Given the description of an element on the screen output the (x, y) to click on. 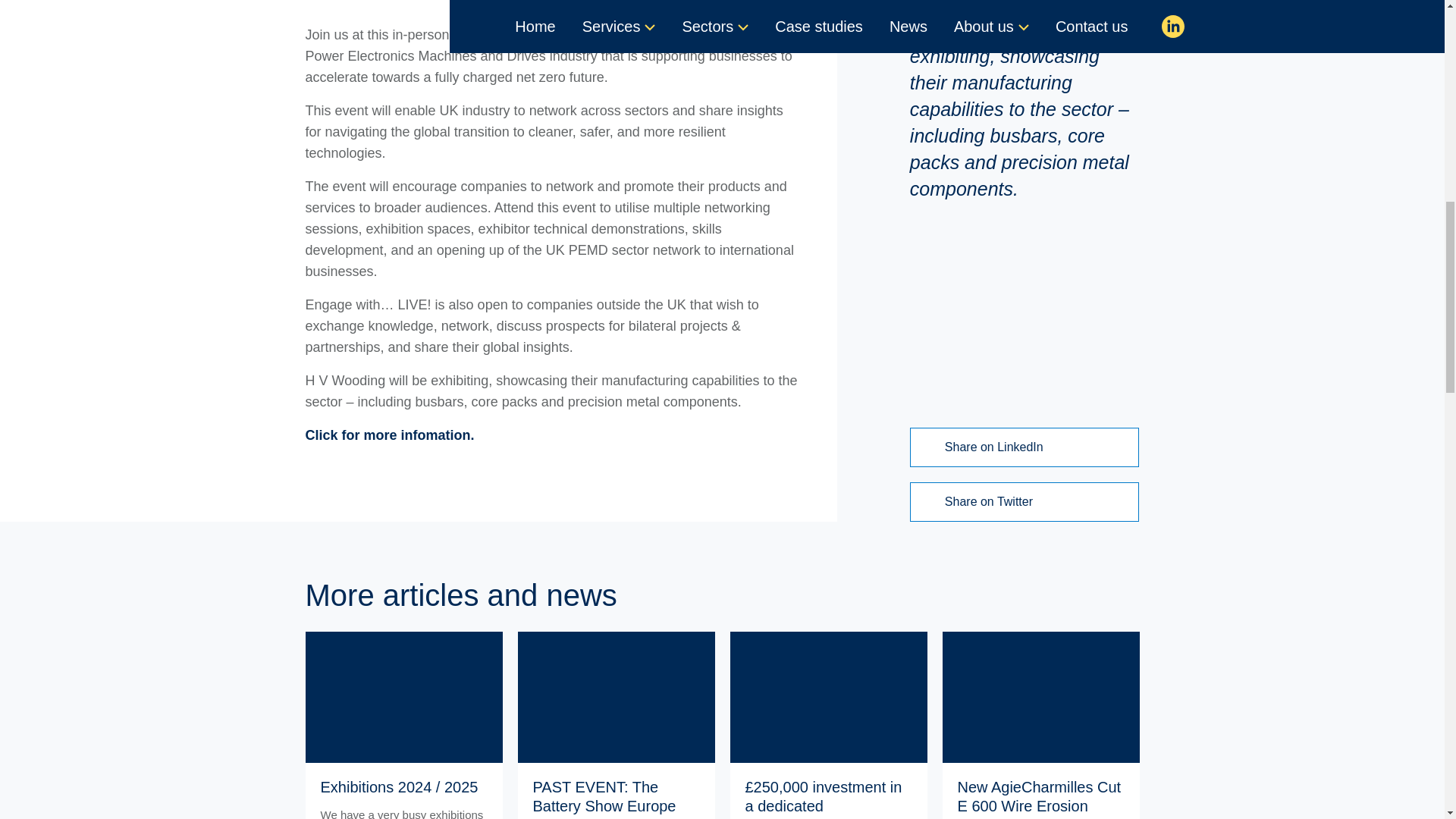
Share on Twitter (1025, 501)
Click for more infomation. (389, 435)
Share on LinkedIn (1025, 446)
